Given the description of an element on the screen output the (x, y) to click on. 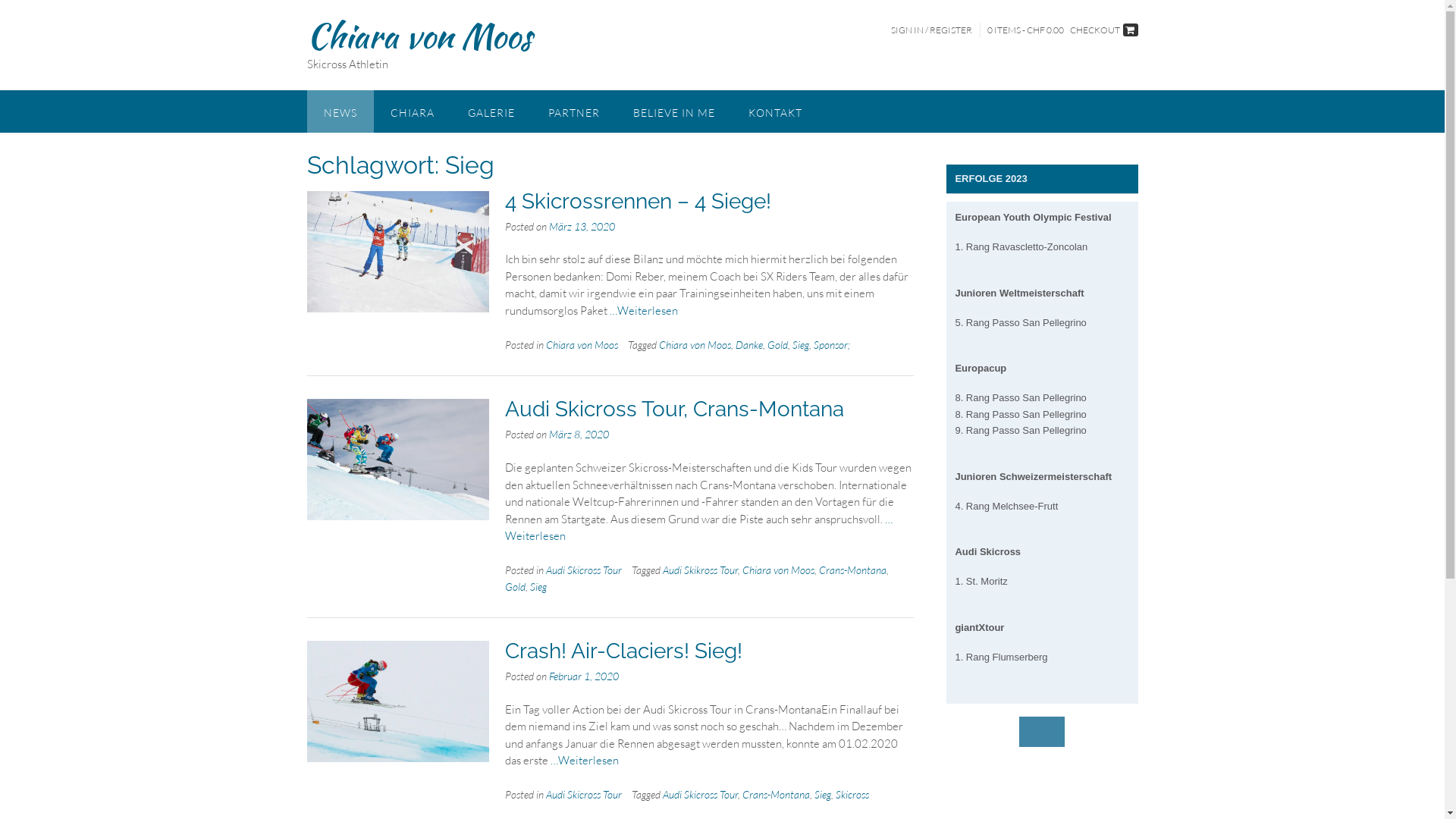
Skicross Element type: text (852, 793)
Audi Skicross Tour, Crans-Montana Element type: text (674, 408)
Audi Skikross Tour Element type: text (699, 569)
Crans-Montana Element type: text (775, 793)
Audi Skicross Tour Element type: text (583, 569)
Chiara von Moos Element type: text (694, 344)
Chiara von Moos Element type: text (778, 569)
Sieg Element type: text (538, 586)
PARTNER Element type: text (572, 111)
Crans-Montana Element type: text (852, 569)
Sieg Element type: text (822, 793)
Chiara von Moos Element type: text (582, 344)
Gold Element type: text (515, 586)
GALERIE Element type: text (490, 111)
Sponsor; Element type: text (831, 344)
BELIEVE IN ME Element type: text (673, 111)
Crash! Air-Claciers! Sieg! Element type: text (623, 650)
SIGN IN / REGISTER Element type: text (931, 29)
Danke Element type: text (748, 344)
0 ITEMS - CHF 0.00 CHECKOUT Element type: text (1062, 29)
NEWS Element type: text (339, 111)
Februar 1, 2020 Element type: text (583, 675)
Audi Skicross Tour Element type: text (699, 793)
Chiara von Moos Element type: text (418, 35)
Audi Skicross Tour Element type: text (583, 793)
CHIARA Element type: text (411, 111)
Gold Element type: text (777, 344)
Sieg Element type: text (800, 344)
KONTAKT Element type: text (774, 111)
